Given the description of an element on the screen output the (x, y) to click on. 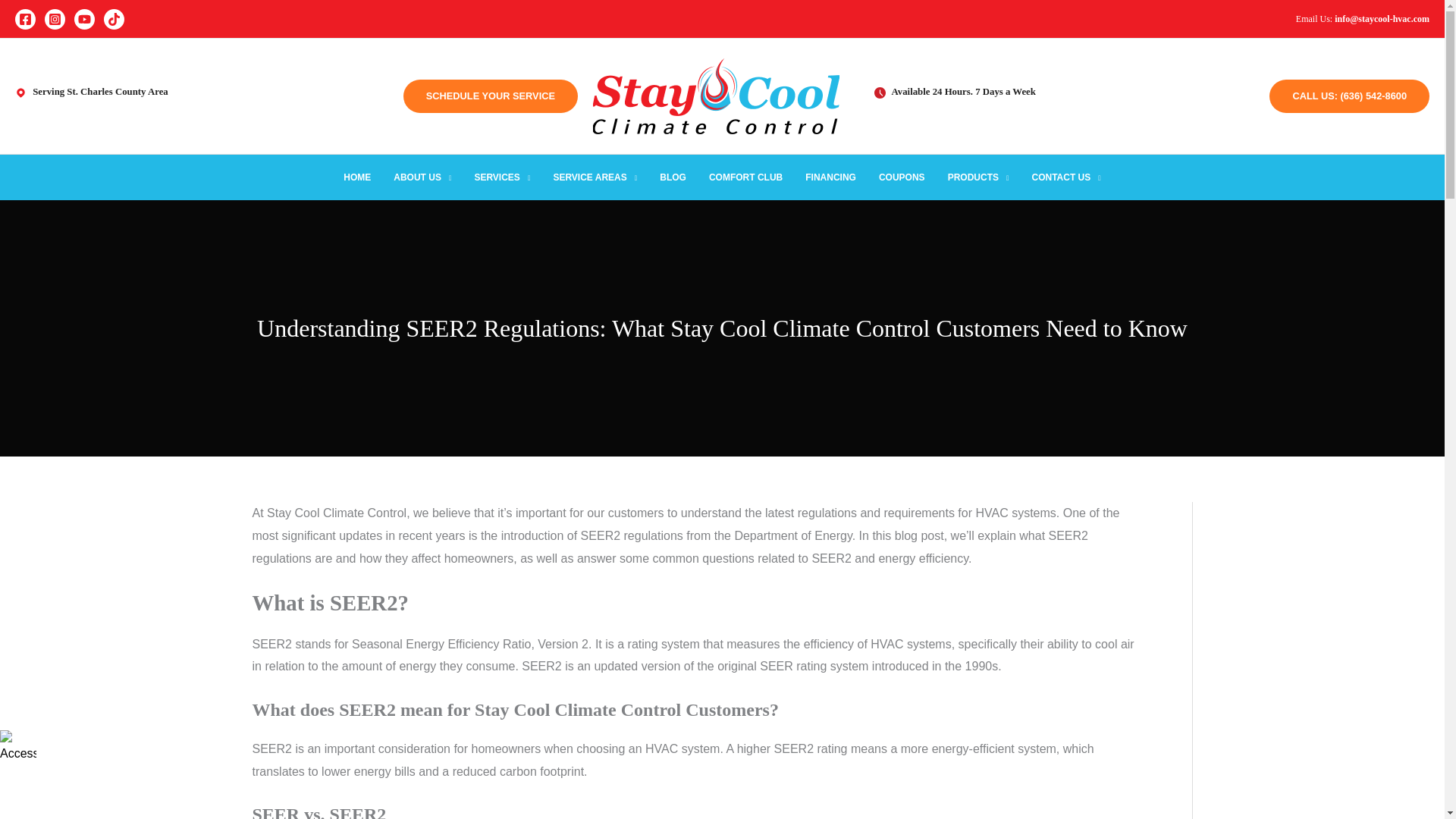
Accessibility Helper sidebar (18, 747)
ABOUT US (422, 176)
HOME (356, 176)
SCHEDULE YOUR SERVICE (494, 96)
SERVICES (502, 176)
